Given the description of an element on the screen output the (x, y) to click on. 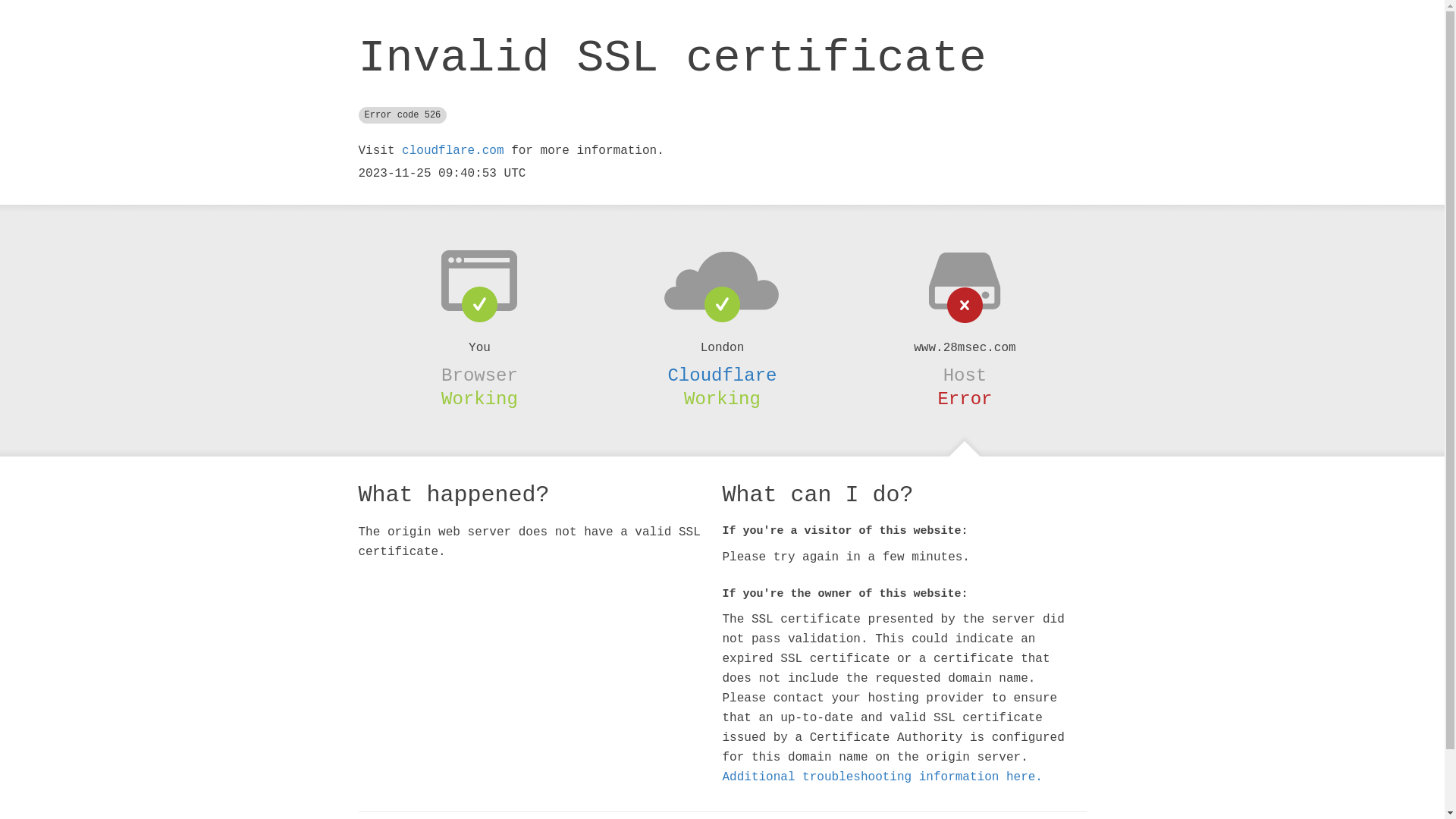
Additional troubleshooting information here. Element type: text (881, 777)
cloudflare.com Element type: text (452, 150)
Cloudflare Element type: text (721, 375)
